Given the description of an element on the screen output the (x, y) to click on. 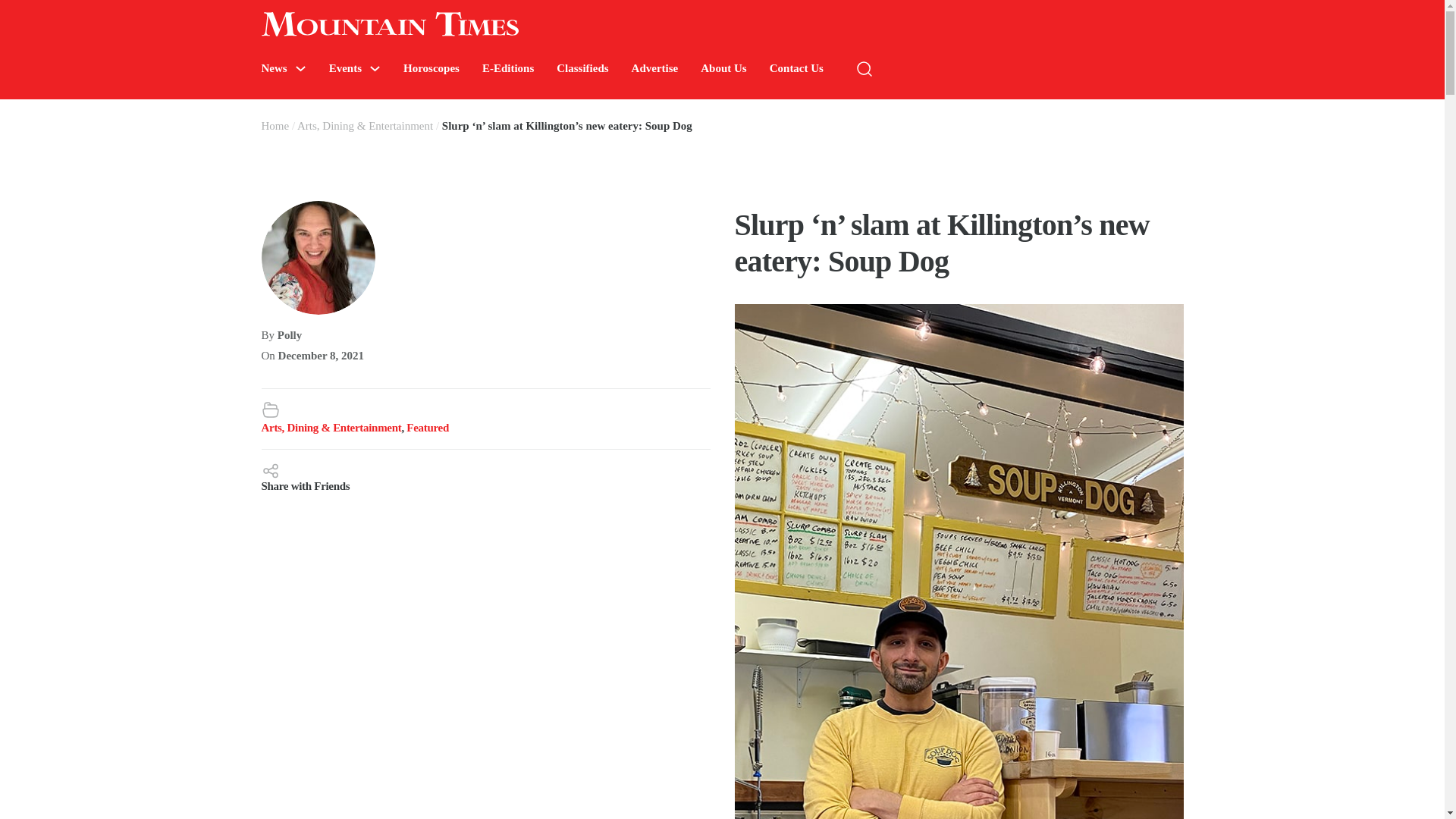
Contact Us (797, 67)
Polly (290, 335)
News (273, 67)
E-Editions (507, 67)
Classifieds (582, 67)
Horoscopes (431, 67)
Home (274, 125)
Events (345, 67)
Search (1274, 114)
Featured (427, 427)
